Given the description of an element on the screen output the (x, y) to click on. 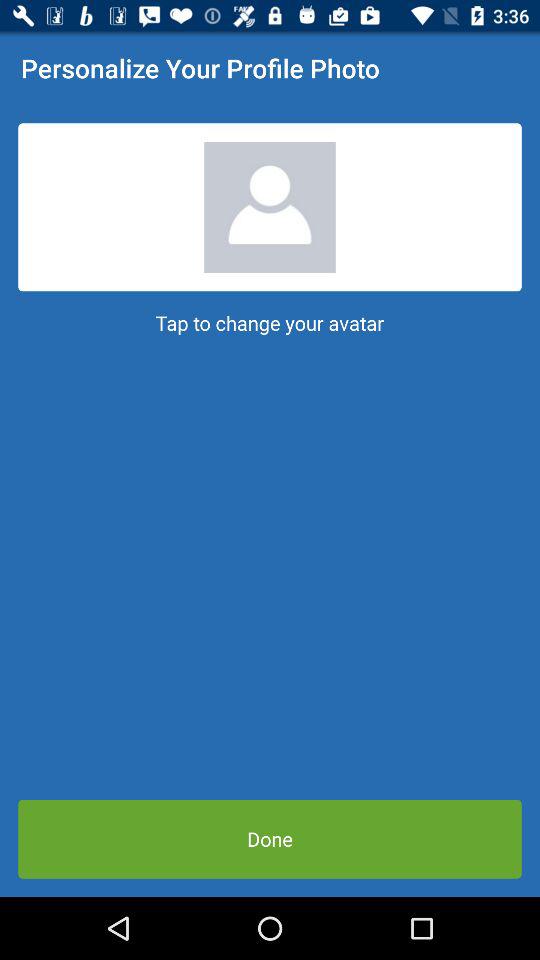
turn on the app below personalize your profile icon (269, 207)
